Given the description of an element on the screen output the (x, y) to click on. 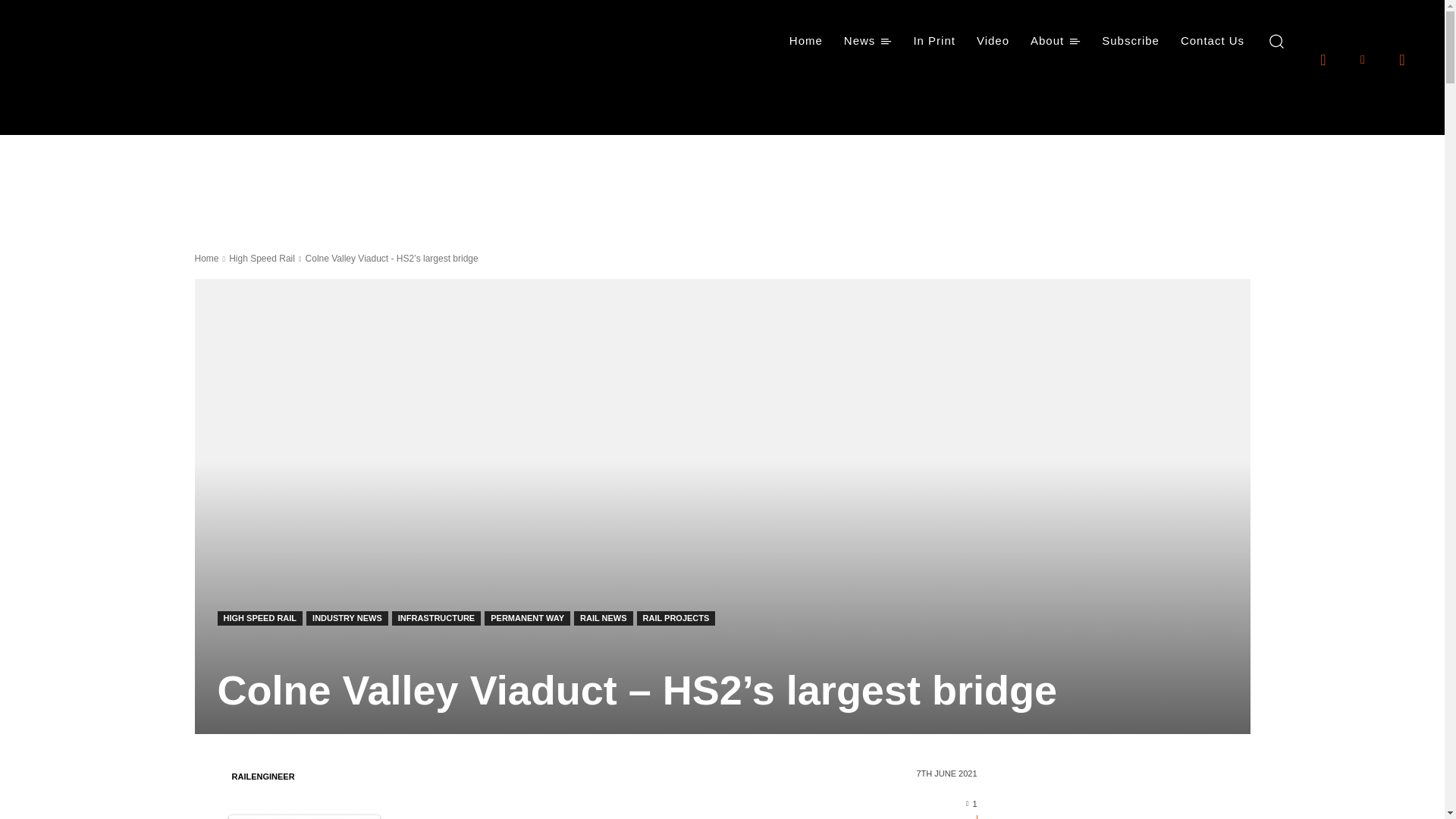
In Print (934, 40)
Home (805, 40)
Linkedin (1361, 58)
Facebook (1322, 58)
Video (993, 40)
Twitter (1401, 58)
News (867, 40)
About (1055, 40)
